Given the description of an element on the screen output the (x, y) to click on. 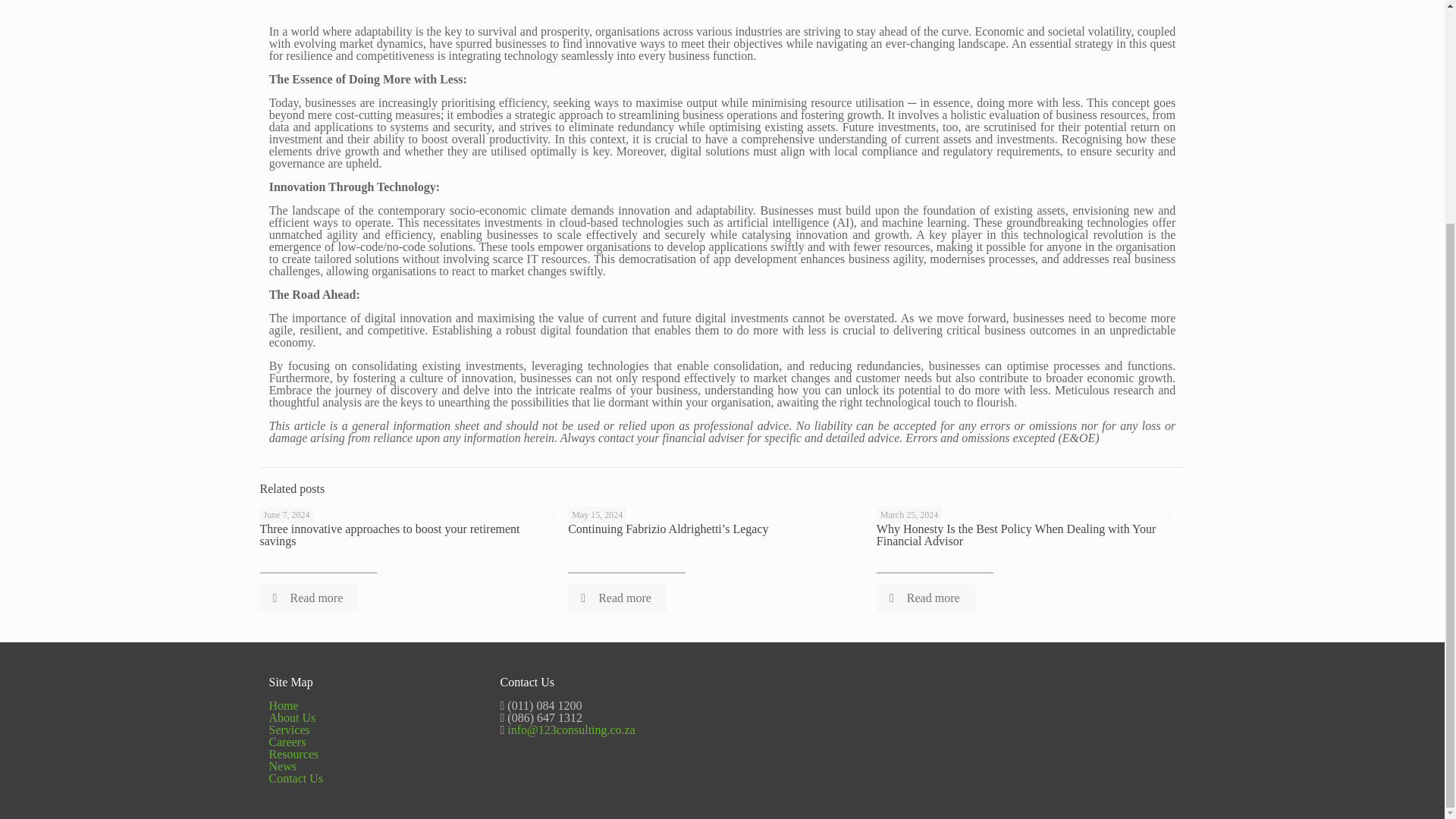
Resources (292, 753)
Three innovative approaches to boost your retirement savings (389, 534)
Read more (925, 597)
Read more (308, 597)
Services (287, 729)
Read more (616, 597)
About Us (291, 717)
Contact Us (295, 778)
News (281, 766)
Home (282, 705)
Careers (286, 741)
